Given the description of an element on the screen output the (x, y) to click on. 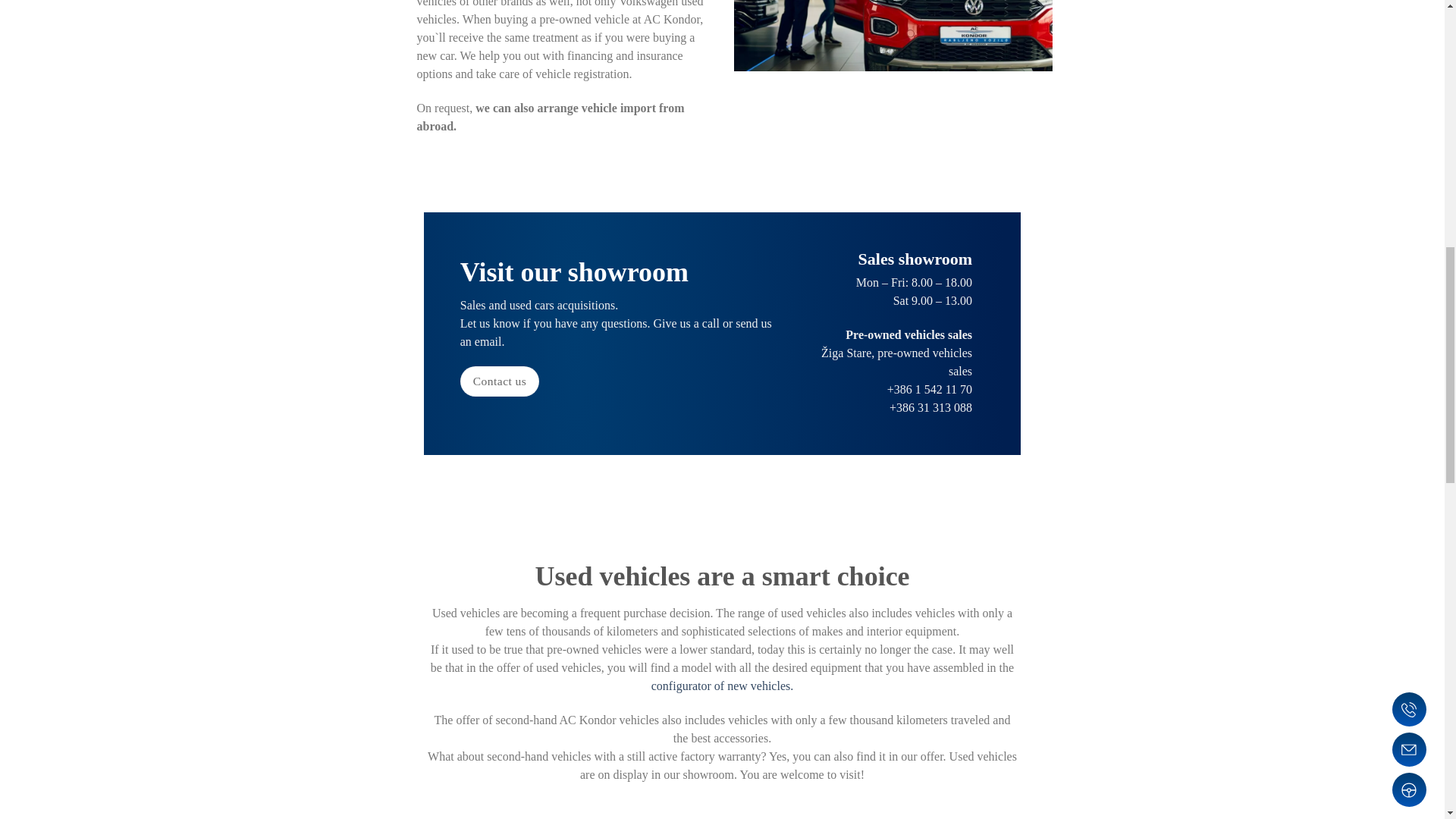
Contact us (500, 380)
configurator of new vehicles. (721, 685)
